Given the description of an element on the screen output the (x, y) to click on. 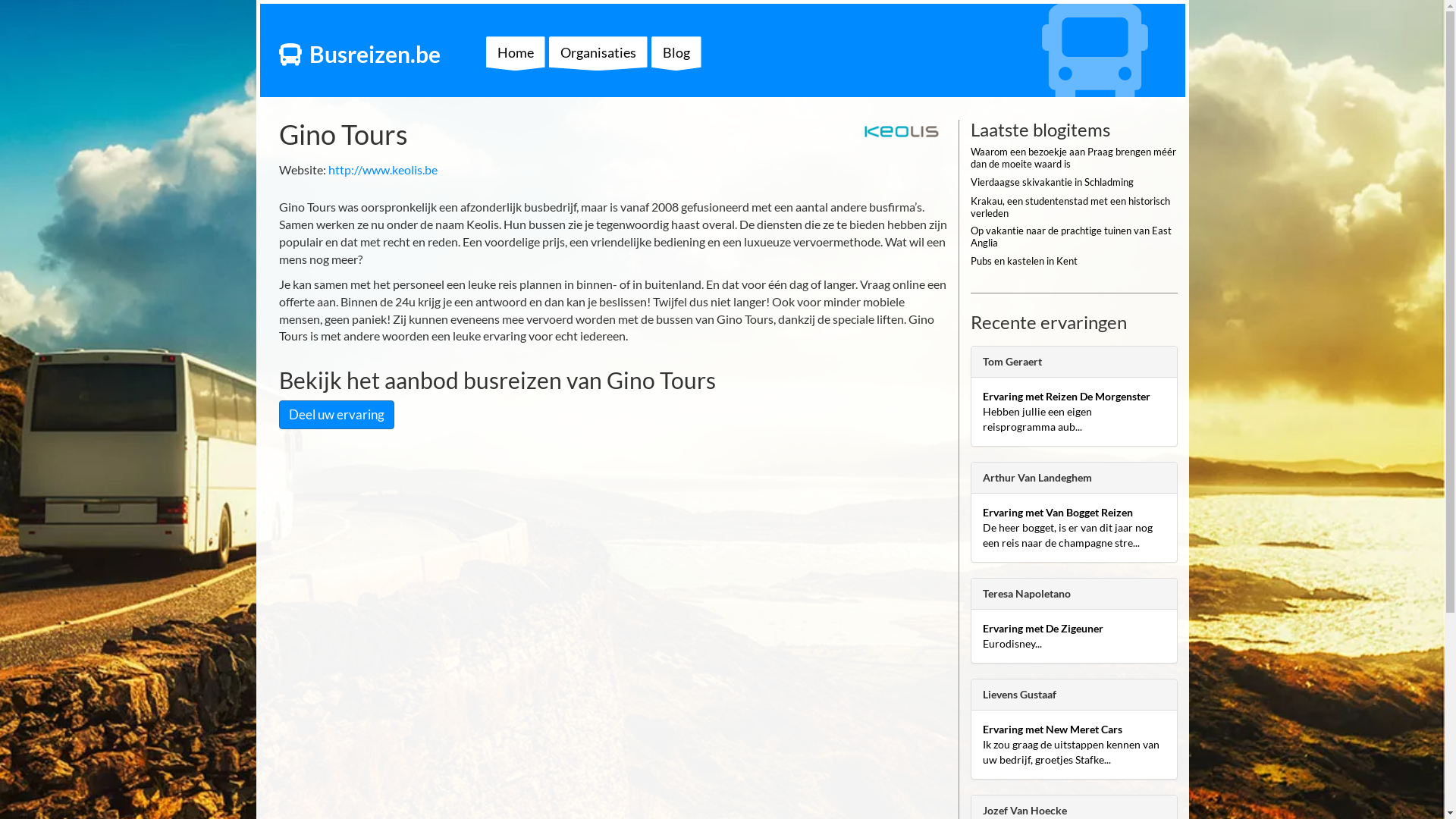
Op vakantie naar de prachtige tuinen van East Anglia Element type: text (1073, 239)
Teresa Napoletano
Ervaring met De Zigeuner
Eurodisney... Element type: text (1073, 620)
Deel uw ervaring Element type: text (336, 414)
Pubs en kastelen in Kent Element type: text (1073, 263)
Busreizen.be Element type: text (374, 53)
Krakau, een studentenstad met een historisch verleden Element type: text (1073, 209)
Organisaties Element type: text (598, 53)
Vierdaagse skivakantie in Schladming Element type: text (1073, 184)
Blog Element type: text (675, 53)
Home Element type: text (514, 53)
http://www.keolis.be Element type: text (381, 169)
